Given the description of an element on the screen output the (x, y) to click on. 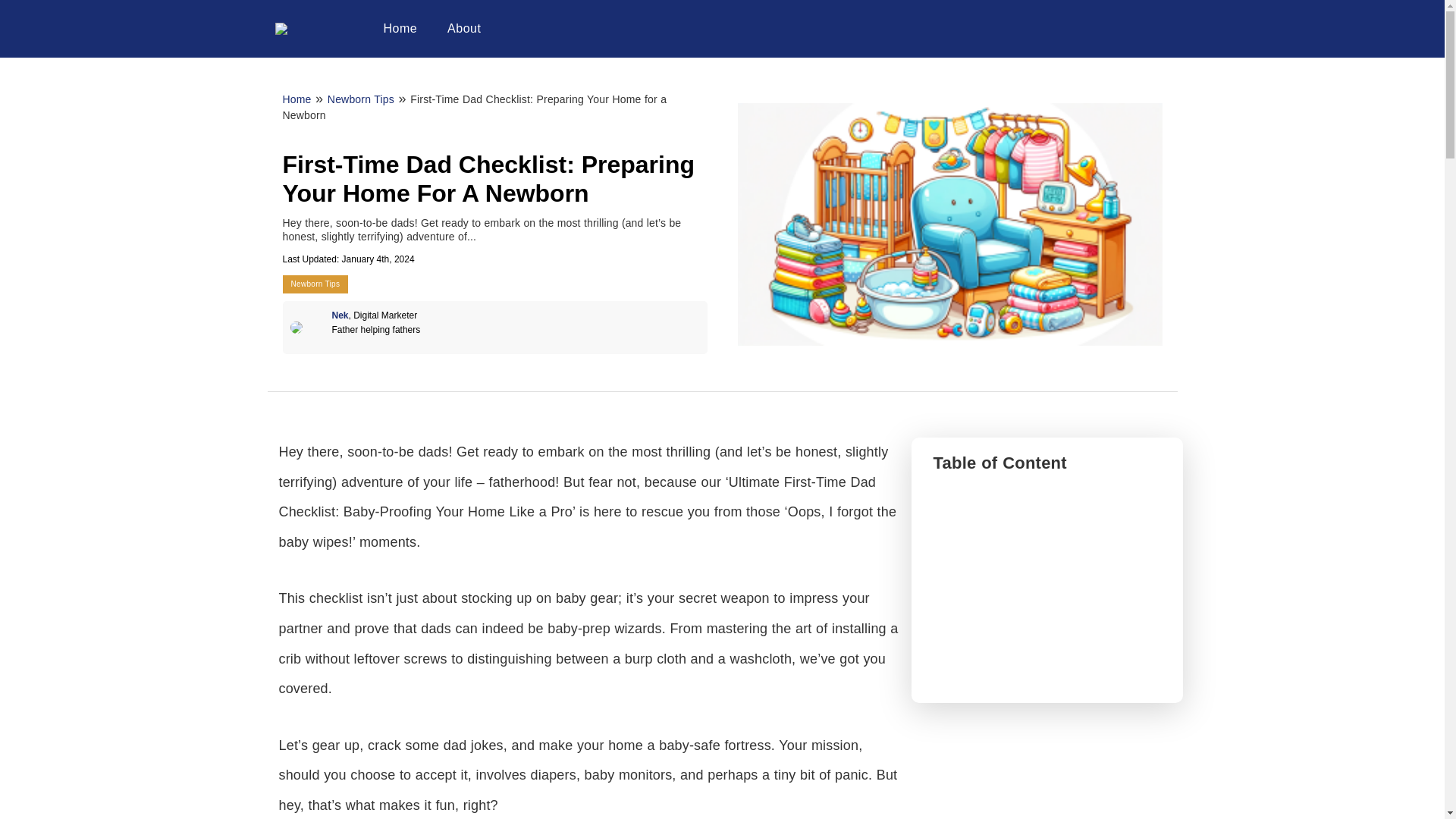
Nek (340, 315)
Newborn Tips (360, 99)
About (464, 28)
Home (296, 99)
Newborn Tips (314, 284)
Posts by Nek (340, 315)
Search (21, 7)
Home (400, 28)
